Given the description of an element on the screen output the (x, y) to click on. 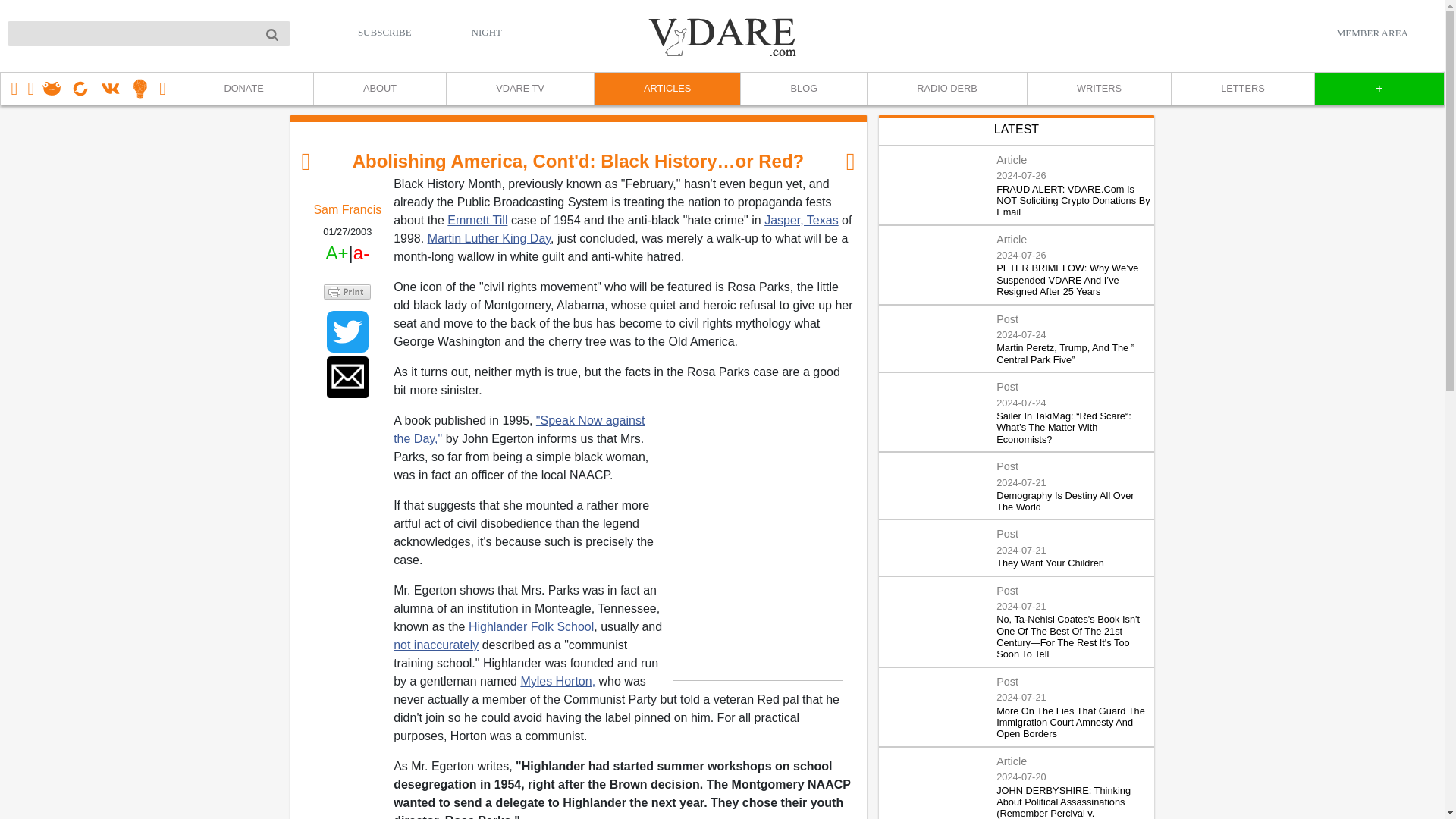
SUBSCRIBE (385, 31)
WRITERS (1098, 88)
Share to Twitter (347, 331)
RADIO DERB (946, 88)
BLOG (802, 88)
Printer Friendly and PDF (347, 290)
DONATE (243, 88)
ARTICLES (666, 88)
Share to Email (347, 377)
MEMBER AREA (1371, 32)
LETTERS (1242, 88)
VDARE TV (519, 88)
ABOUT (379, 88)
